Given the description of an element on the screen output the (x, y) to click on. 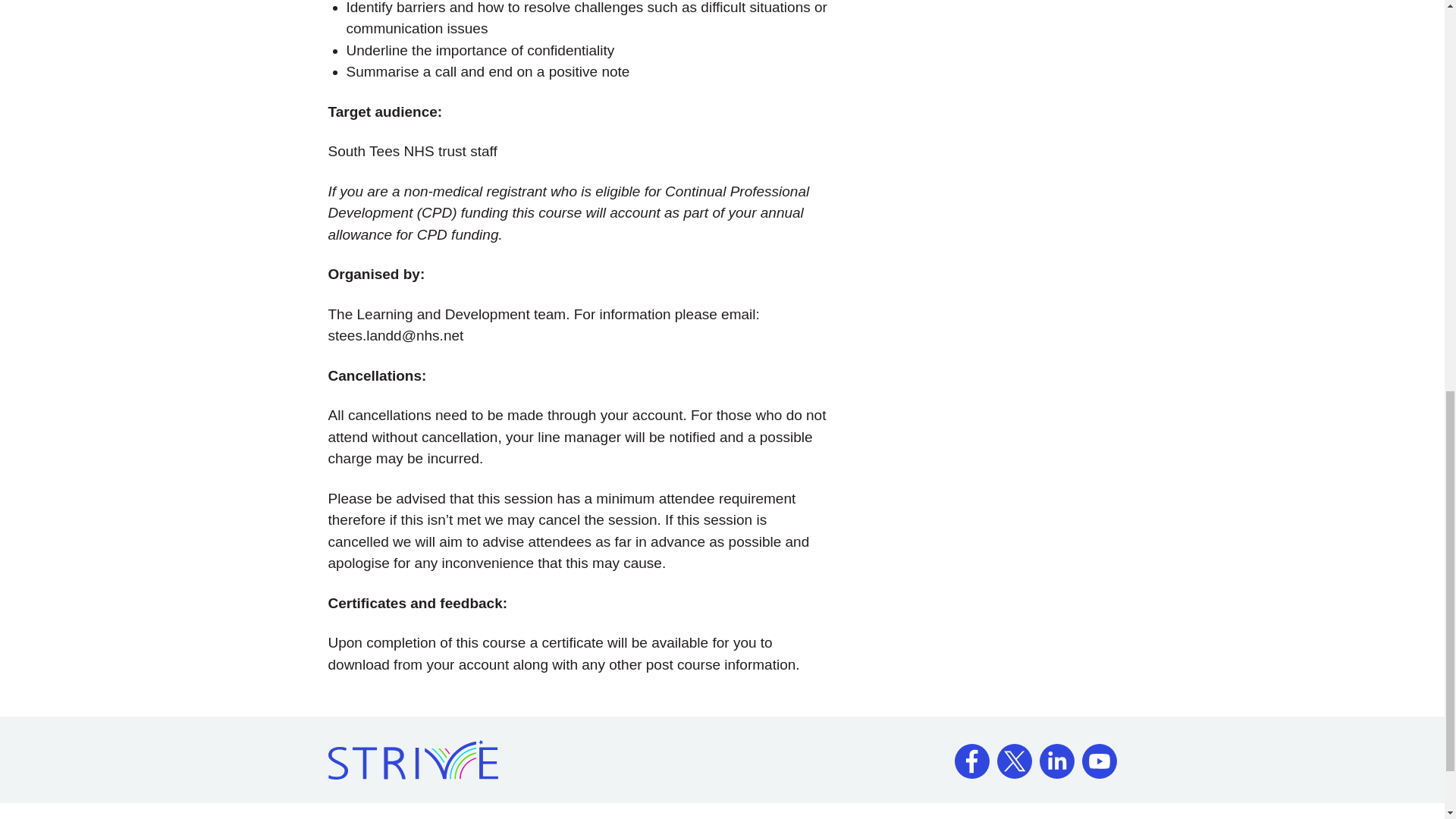
Privacy (879, 818)
Group 8 (1056, 755)
Register (352, 818)
Cookies (944, 818)
Group 5 (970, 755)
Group 9 (1098, 755)
Contact us (430, 818)
Group 7 (1012, 755)
